Given the description of an element on the screen output the (x, y) to click on. 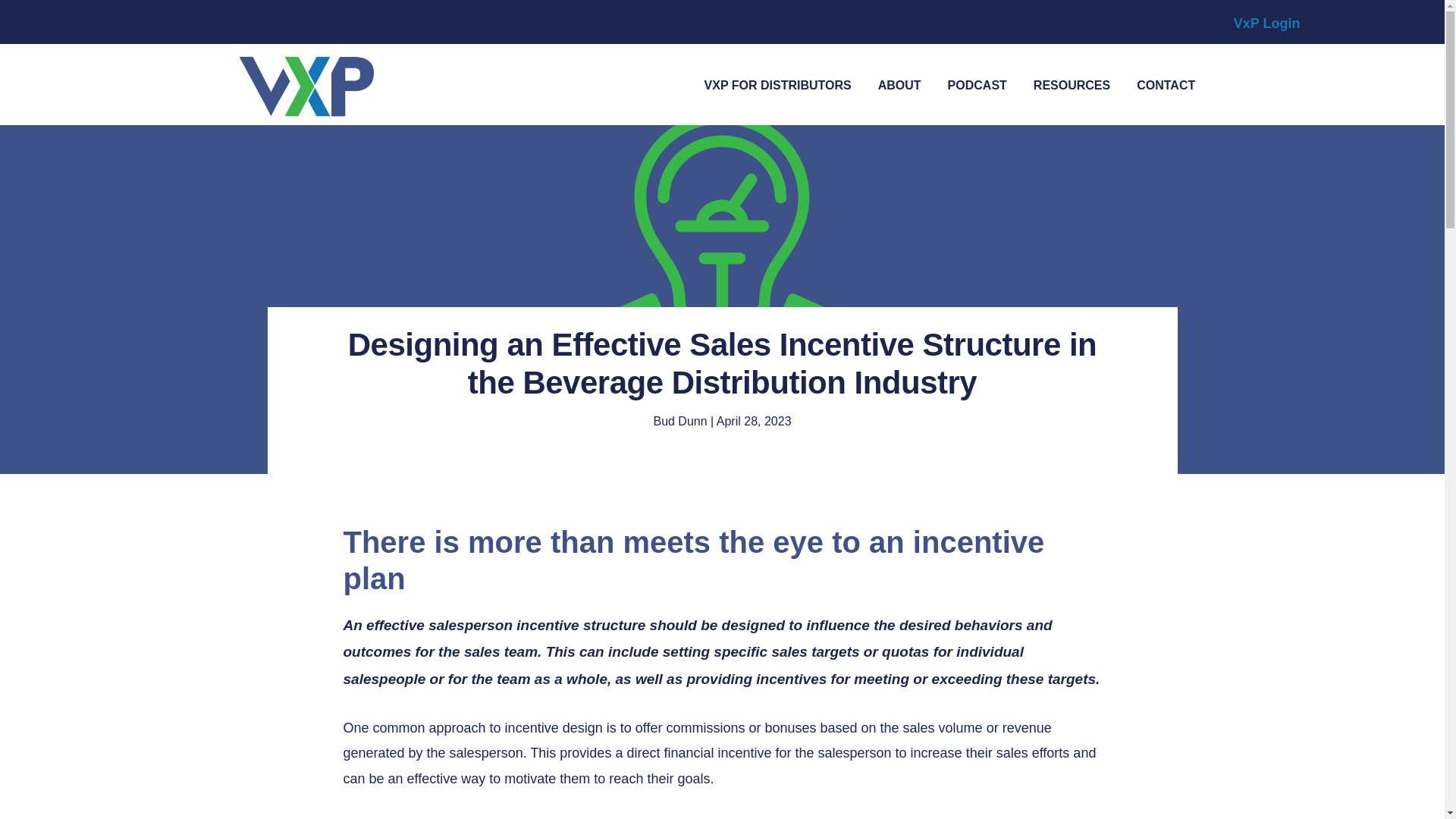
PODCAST (976, 85)
ABOUT (899, 85)
CONTACT (1166, 85)
RESOURCES (1071, 85)
VXP FOR DISTRIBUTORS (778, 85)
VxP Login (1266, 23)
